Given the description of an element on the screen output the (x, y) to click on. 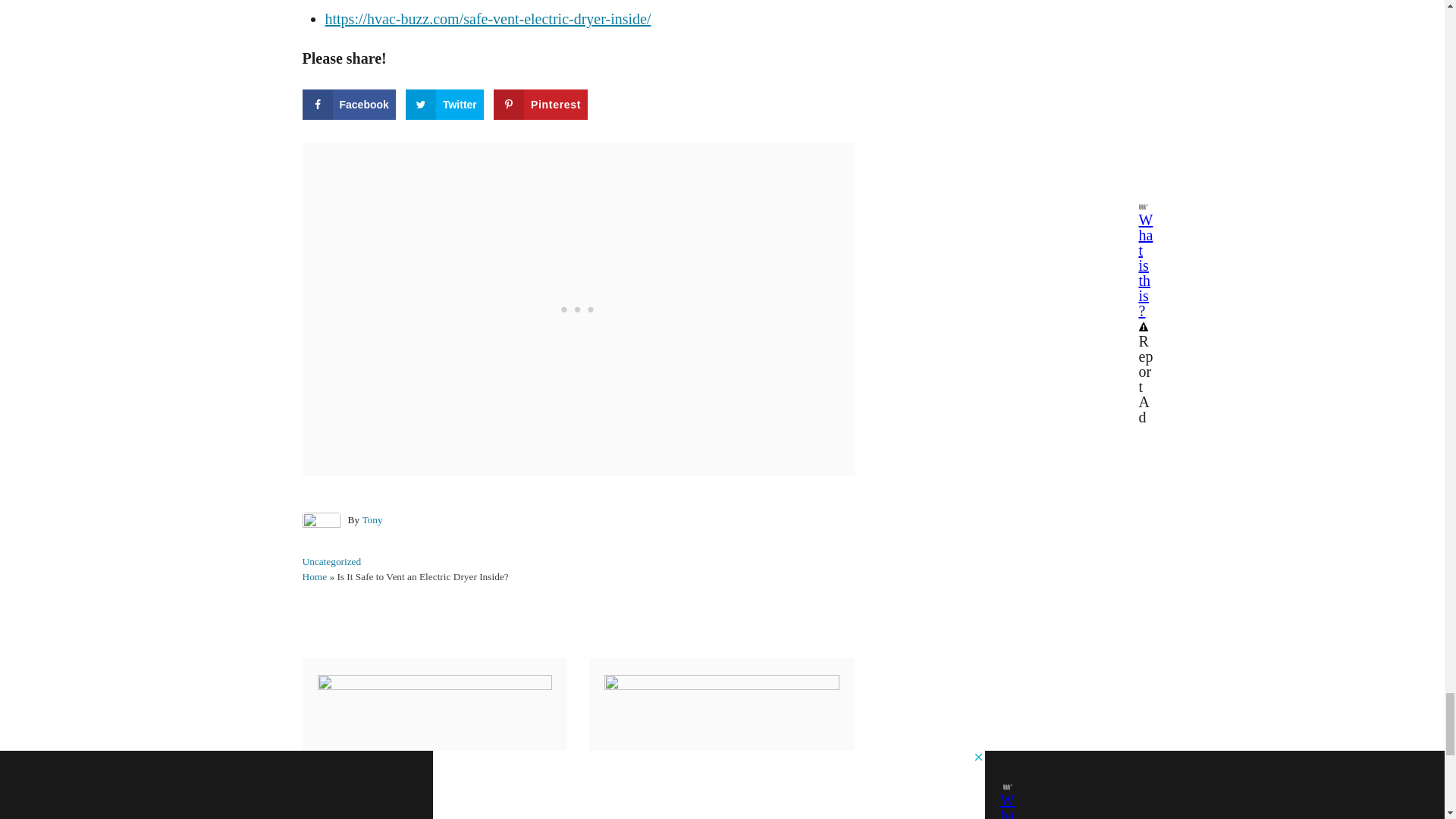
Tony (371, 519)
Facebook (347, 104)
Home (313, 576)
Twitter (444, 104)
Pinterest (540, 104)
Uncategorized (331, 561)
